Given the description of an element on the screen output the (x, y) to click on. 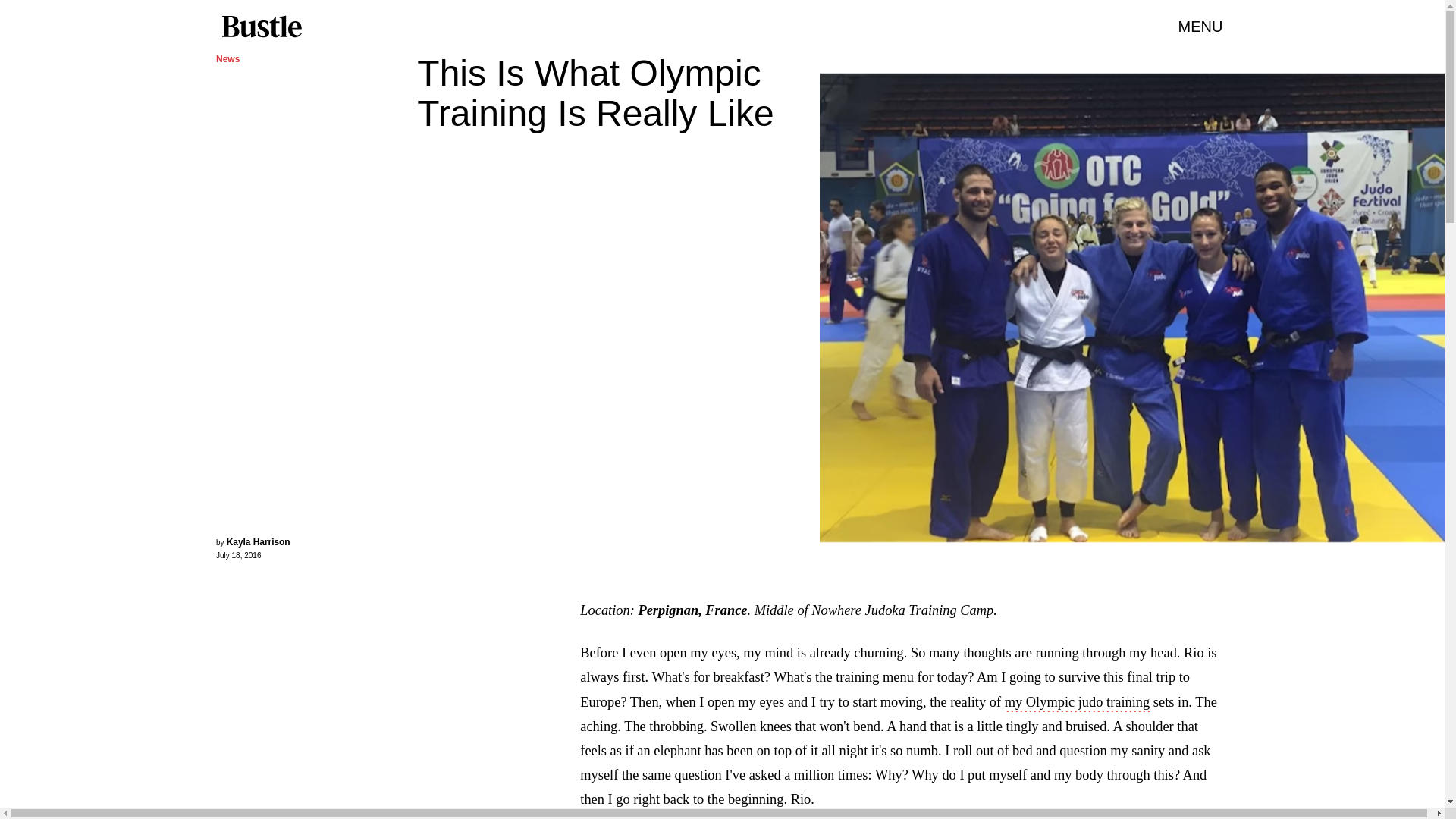
I go right back to the beginning (696, 800)
Bustle (261, 26)
my Olympic judo training (1077, 703)
